Given the description of an element on the screen output the (x, y) to click on. 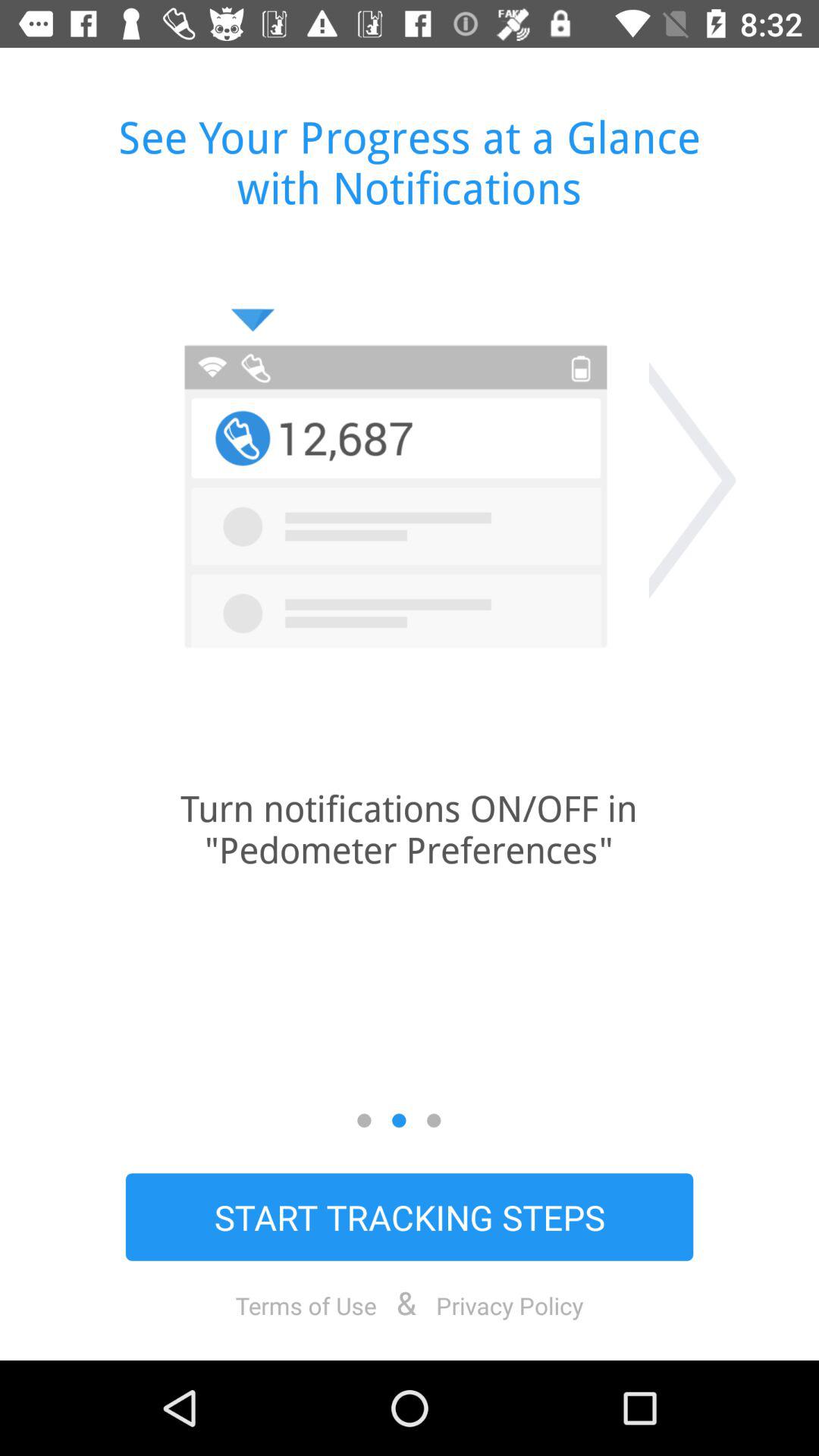
tap privacy policy icon (509, 1305)
